Given the description of an element on the screen output the (x, y) to click on. 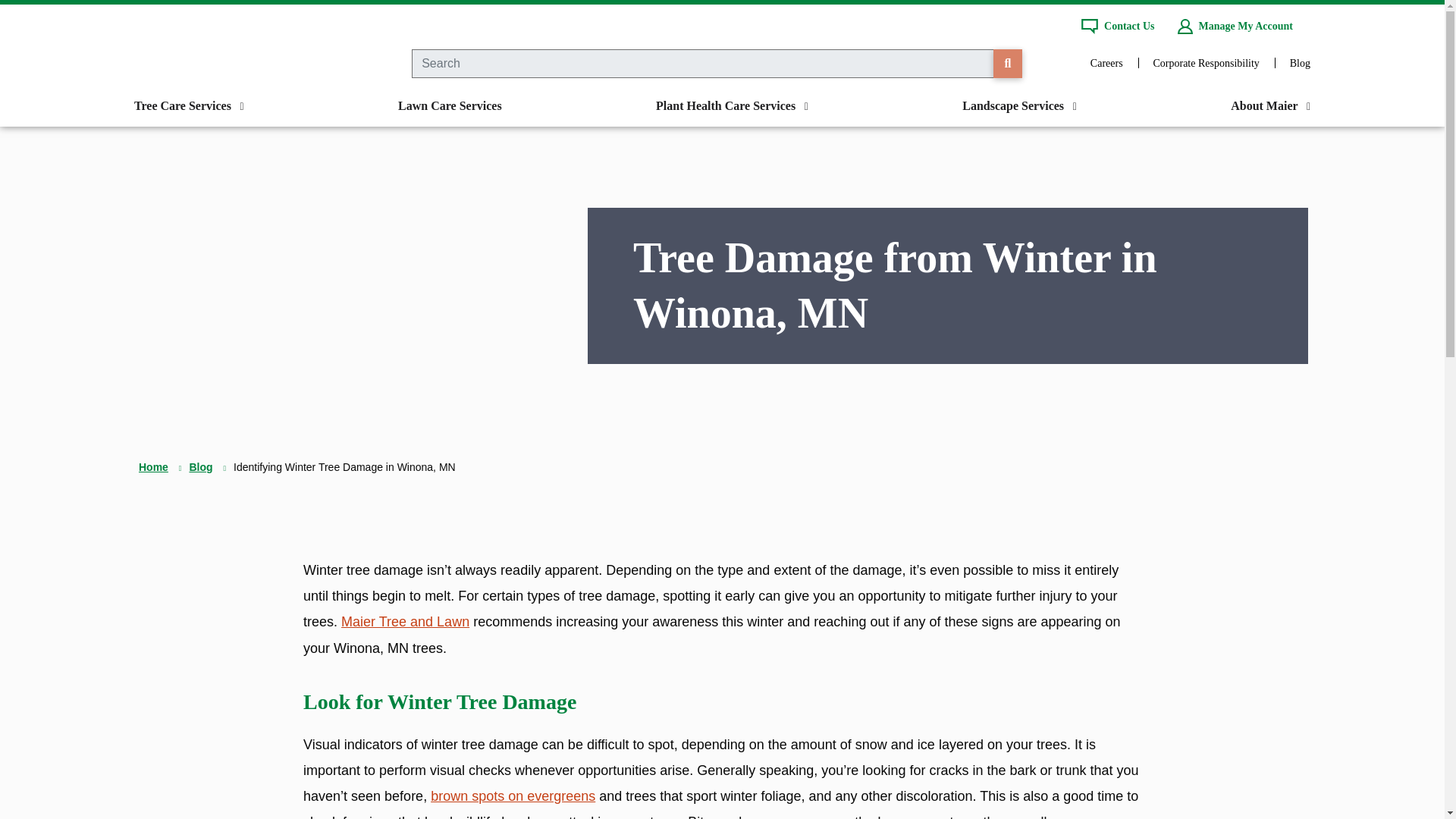
Blog (1300, 62)
Careers (1106, 62)
Opens in a new window (1206, 62)
Search (1007, 63)
Contact Us (1117, 26)
Opens in a new window (512, 795)
Tree Care Services (189, 105)
Opens in a new window (1106, 62)
Lawn Care Services (450, 105)
Corporate Responsibility (1206, 62)
